Given the description of an element on the screen output the (x, y) to click on. 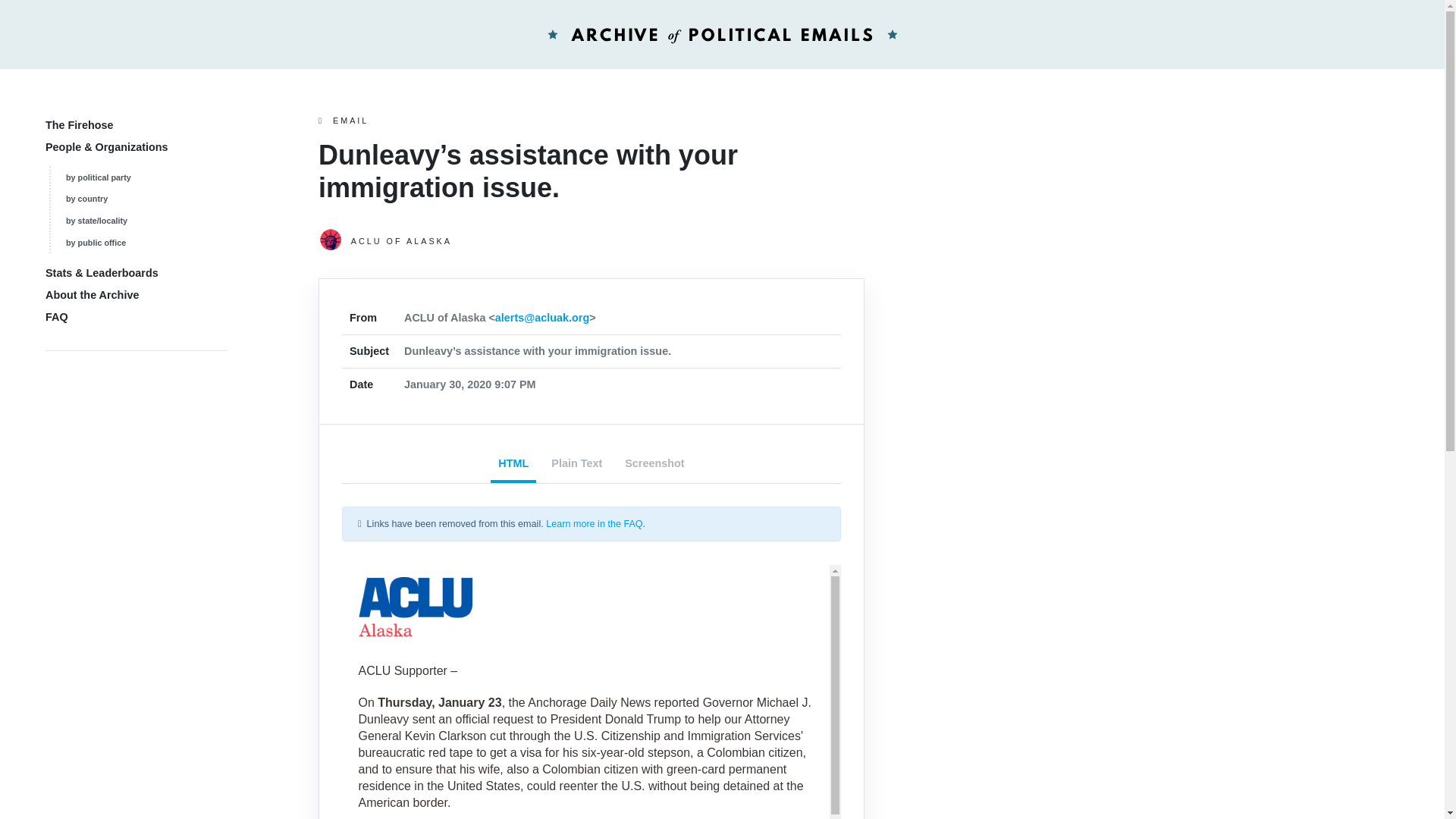
by political party (98, 176)
Plain Text (576, 465)
HTML (512, 465)
ACLU OF ALASKA (591, 241)
About the Archive (91, 295)
by public office (95, 242)
Learn more in the FAQ (594, 523)
Screenshot (654, 465)
FAQ (56, 316)
The Firehose (79, 124)
